Given the description of an element on the screen output the (x, y) to click on. 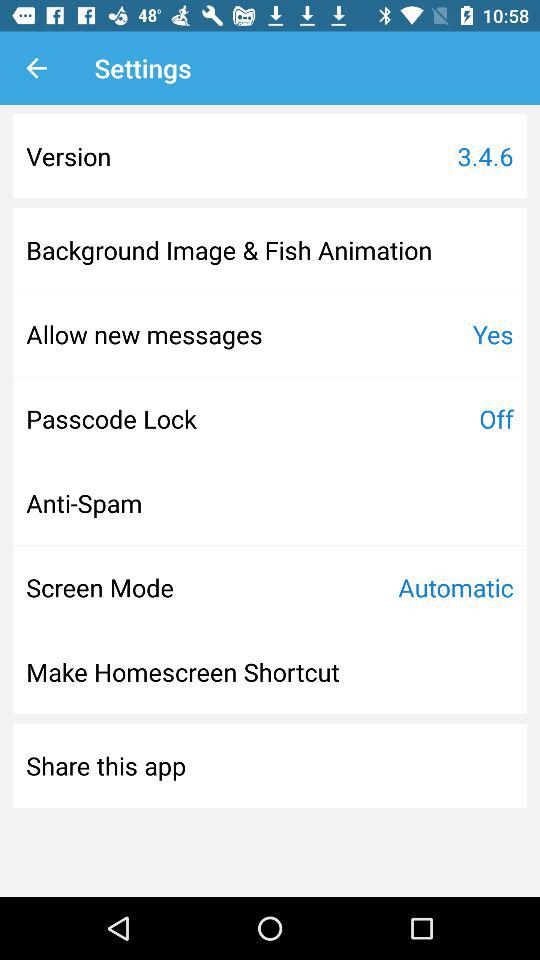
choose the share this app icon (106, 765)
